Given the description of an element on the screen output the (x, y) to click on. 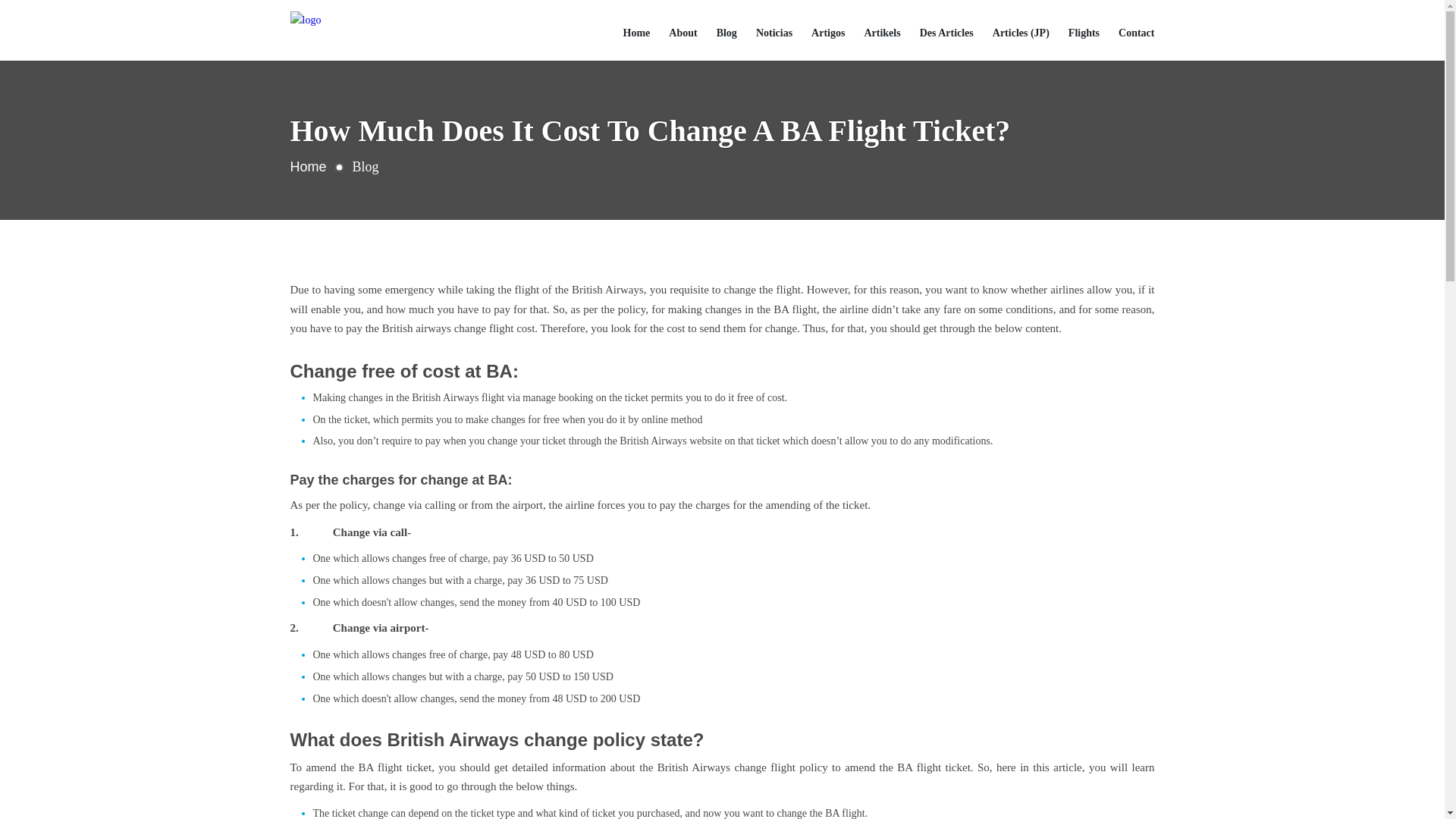
Noticias (773, 32)
Home (636, 32)
Home (307, 167)
Flights (1083, 32)
Contact (1136, 32)
Des Articles (947, 32)
Artigos (827, 32)
About (682, 32)
Artikels (881, 32)
